Given the description of an element on the screen output the (x, y) to click on. 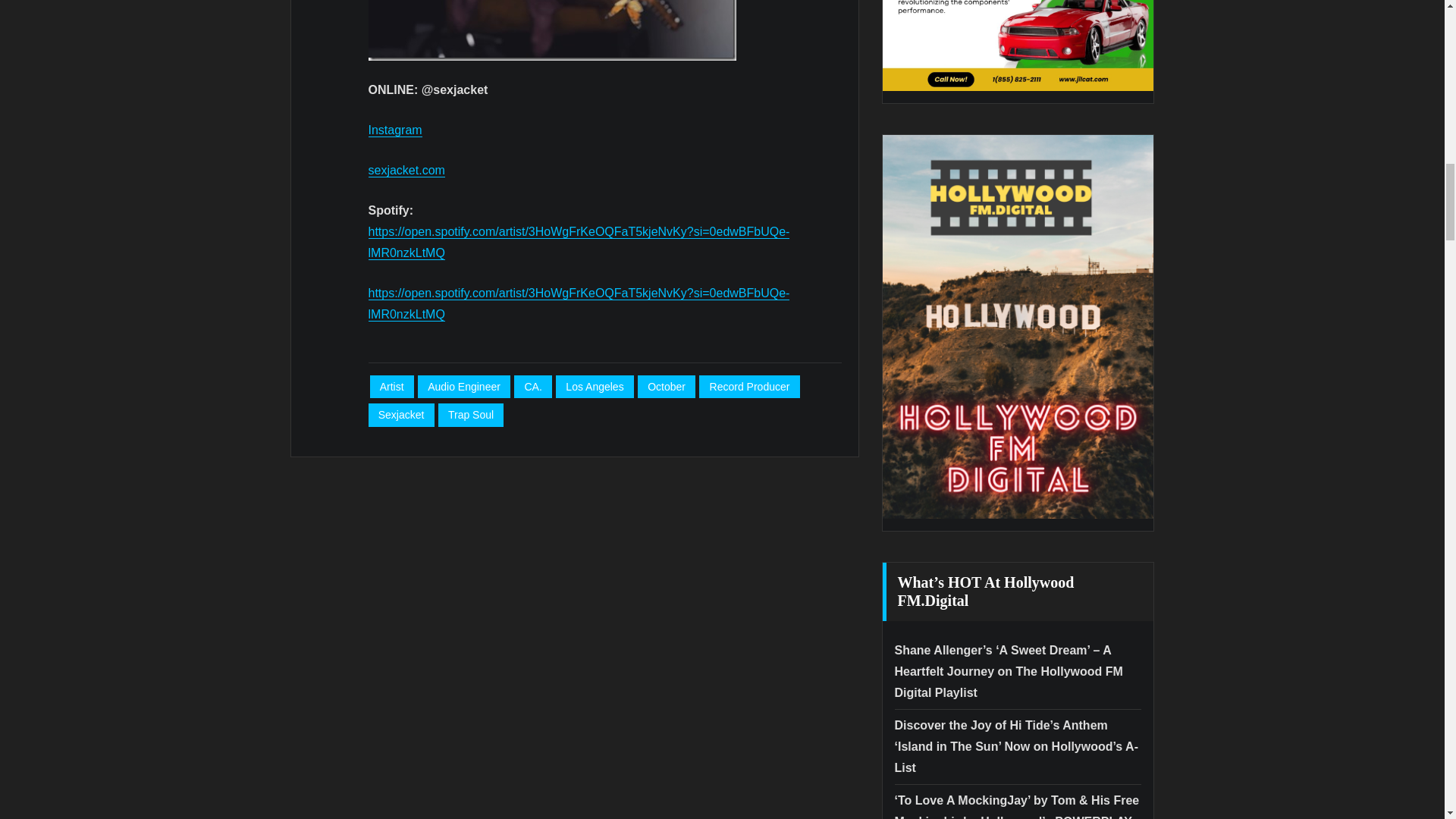
Record Producer (748, 386)
Los Angeles (594, 386)
CA. (532, 386)
Audio Engineer (464, 386)
Artist (391, 386)
sexjacket.com (406, 169)
Sexjacket (400, 414)
Trap Soul (470, 414)
October (666, 386)
Instagram (395, 129)
